Given the description of an element on the screen output the (x, y) to click on. 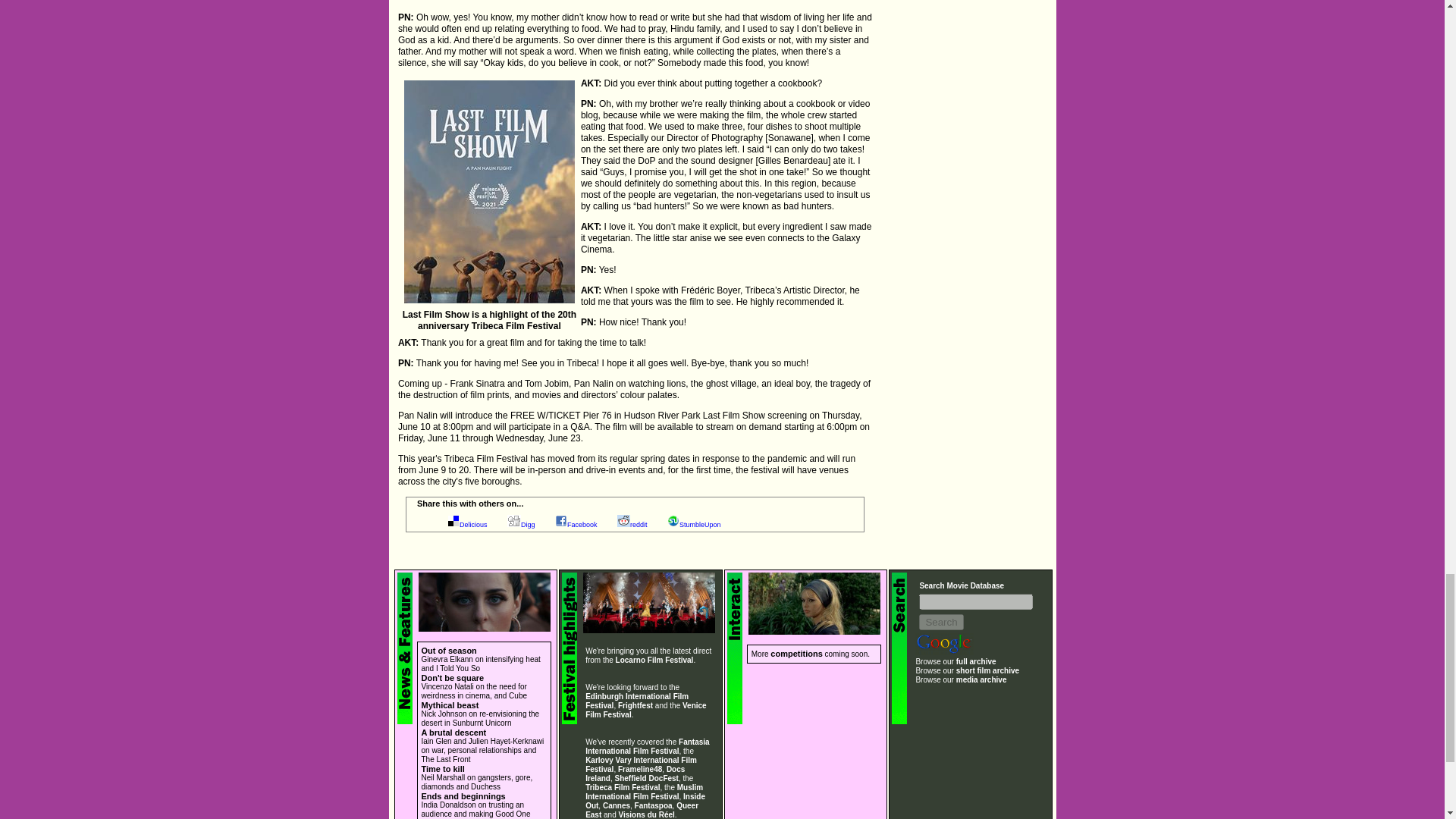
Post this to reddit (638, 524)
Search (940, 621)
Post this to Facebook (581, 524)
Post this to Delicious (473, 524)
Post this to Digg (528, 524)
Post this to StumbleUpon (699, 524)
